Given the description of an element on the screen output the (x, y) to click on. 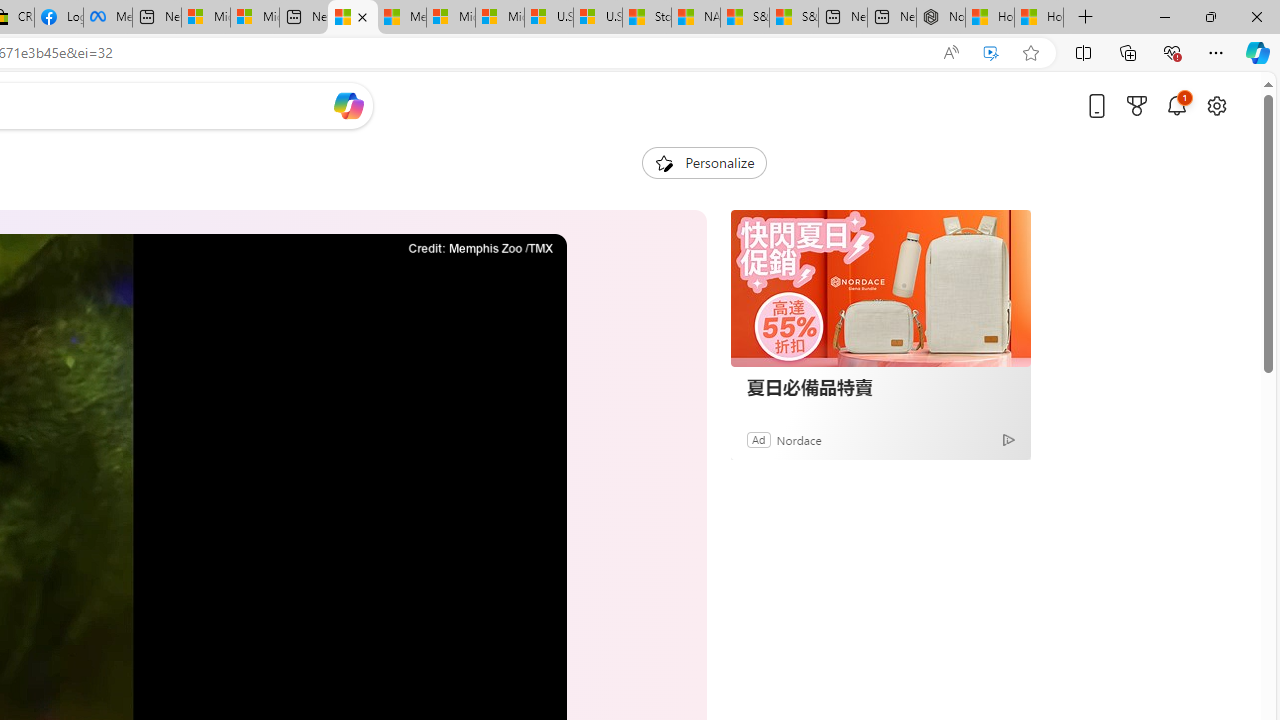
Meta Store (107, 17)
